Given the description of an element on the screen output the (x, y) to click on. 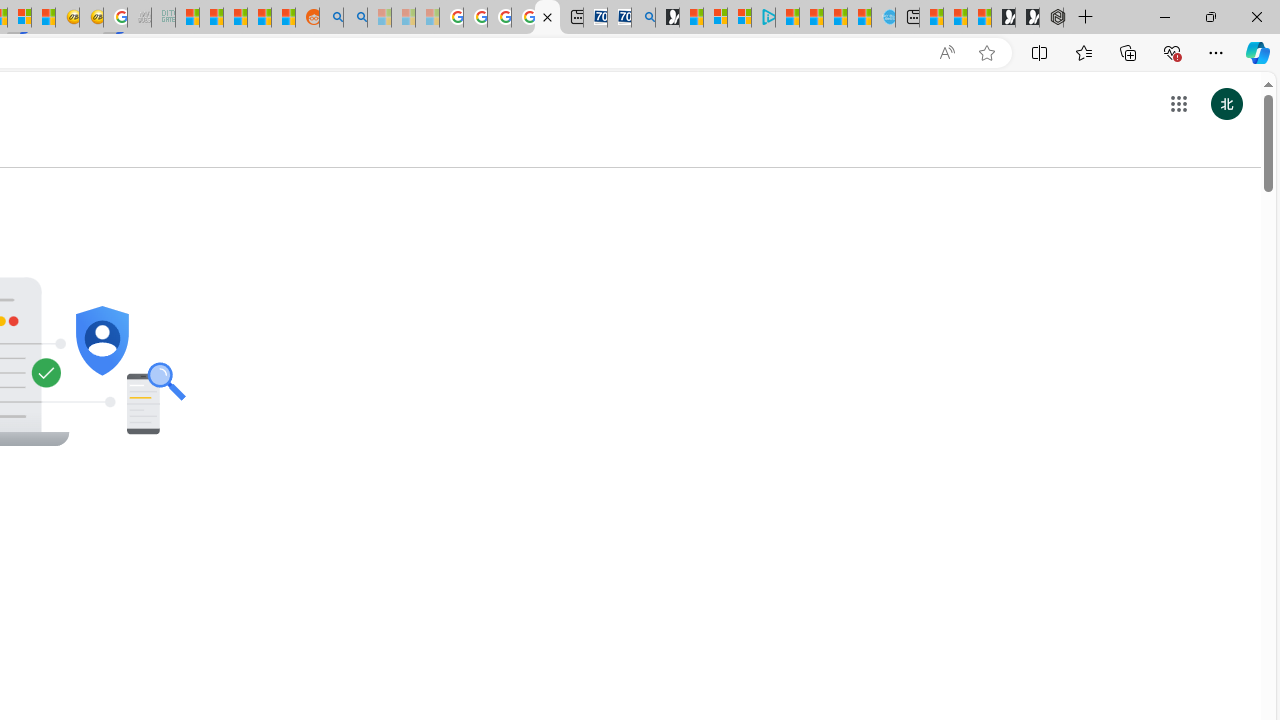
Utah sues federal government - Search (355, 17)
DITOGAMES AG Imprint - Sleeping (163, 17)
